Given the description of an element on the screen output the (x, y) to click on. 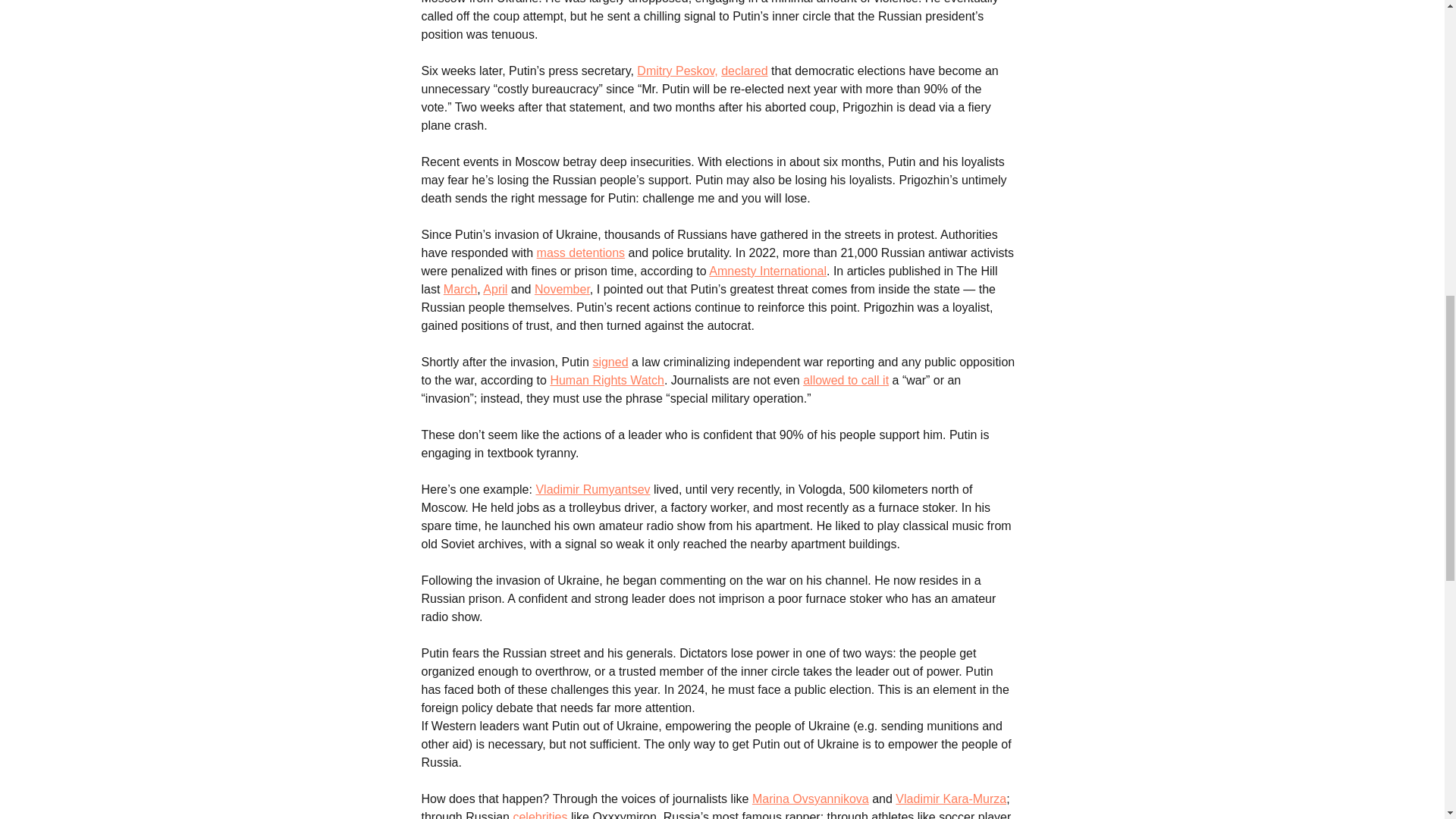
Vladimir Kara-Murza (950, 798)
April (494, 288)
November (561, 288)
March (460, 288)
Human Rights Watch (606, 379)
Vladimir Rumyantsev (592, 489)
celebrities (539, 814)
Marina Ovsyannikova (810, 798)
Amnesty International (768, 270)
allowed to call it (845, 379)
